Given the description of an element on the screen output the (x, y) to click on. 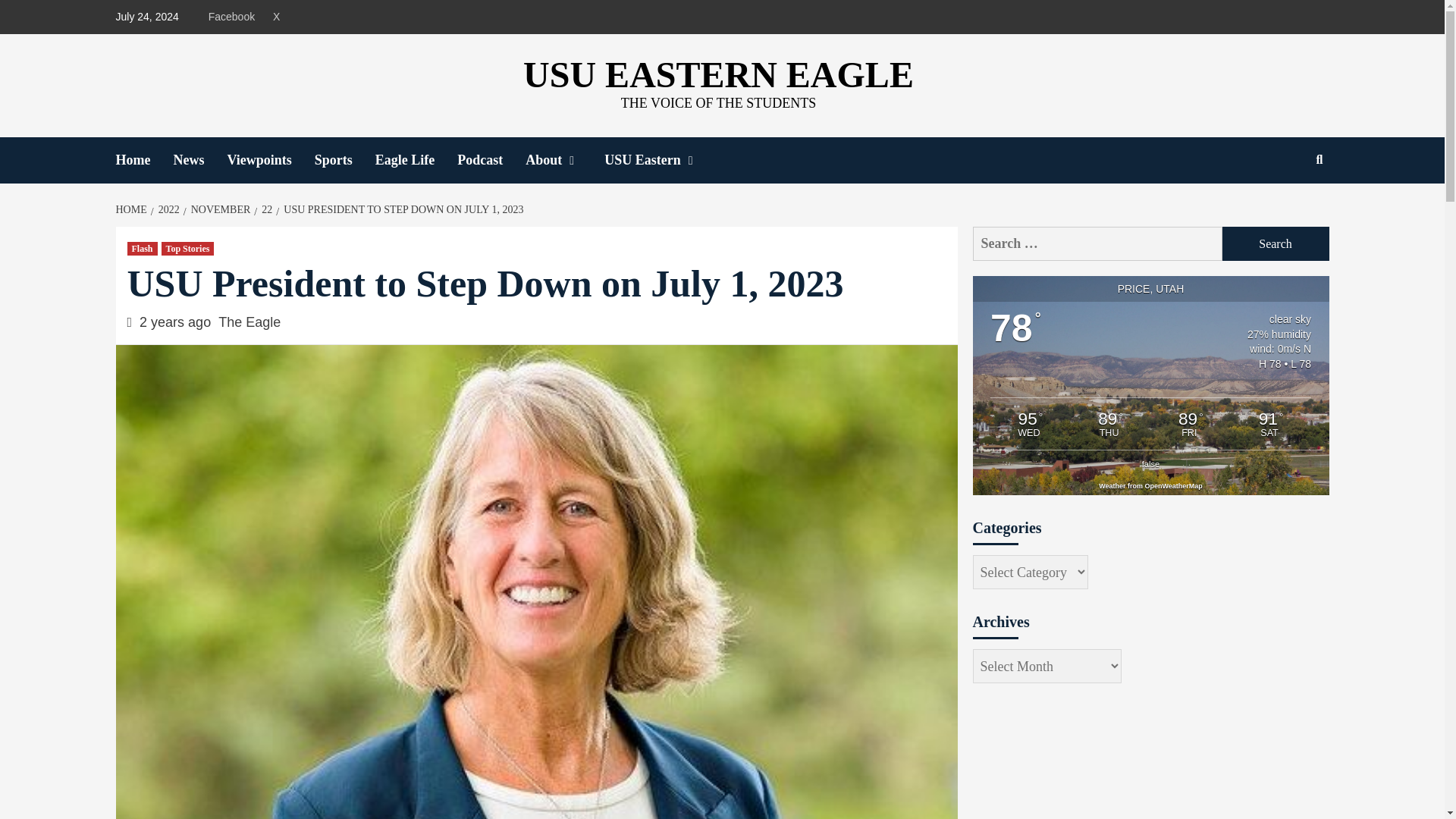
USU Eastern (663, 160)
Posts by The Eagle (249, 322)
USU PRESIDENT TO STEP DOWN ON JULY 1, 2023 (401, 209)
HOME (132, 209)
The Eagle (249, 322)
Search (1276, 243)
NOVEMBER (218, 209)
News (200, 160)
Facebook (235, 17)
Home (144, 160)
Top Stories (187, 248)
Viewpoints (270, 160)
About (564, 160)
Sports (344, 160)
Podcast (491, 160)
